Given the description of an element on the screen output the (x, y) to click on. 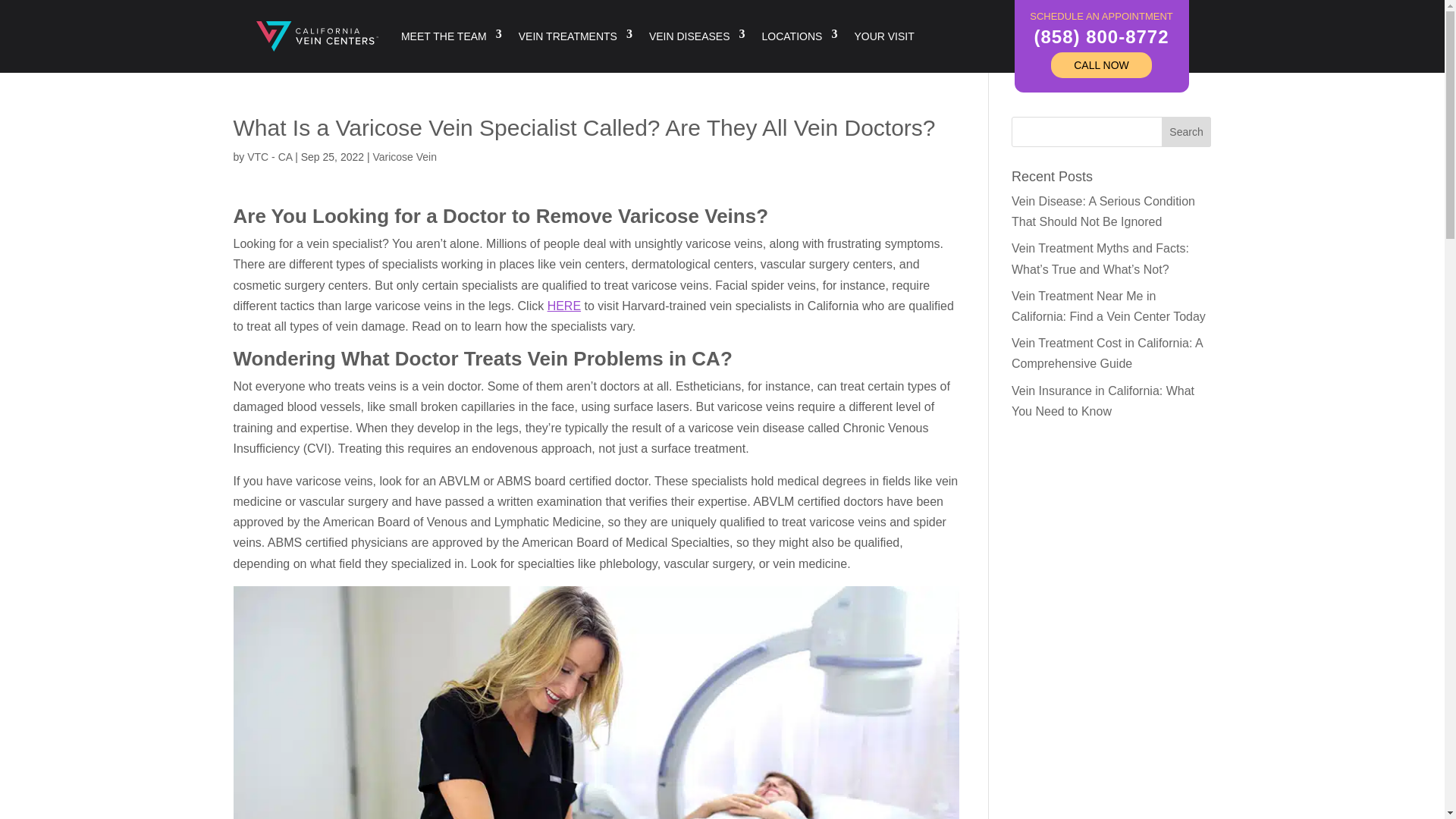
VEIN DISEASES (697, 36)
YOUR VISIT (883, 36)
VTC - CA (269, 156)
Varicose Vein (404, 156)
VEIN TREATMENTS (574, 36)
LOCATIONS (799, 36)
Search (1186, 132)
Vein Disease: A Serious Condition That Should Not Be Ignored (1103, 211)
Posts by VTC - CA (269, 156)
